Given the description of an element on the screen output the (x, y) to click on. 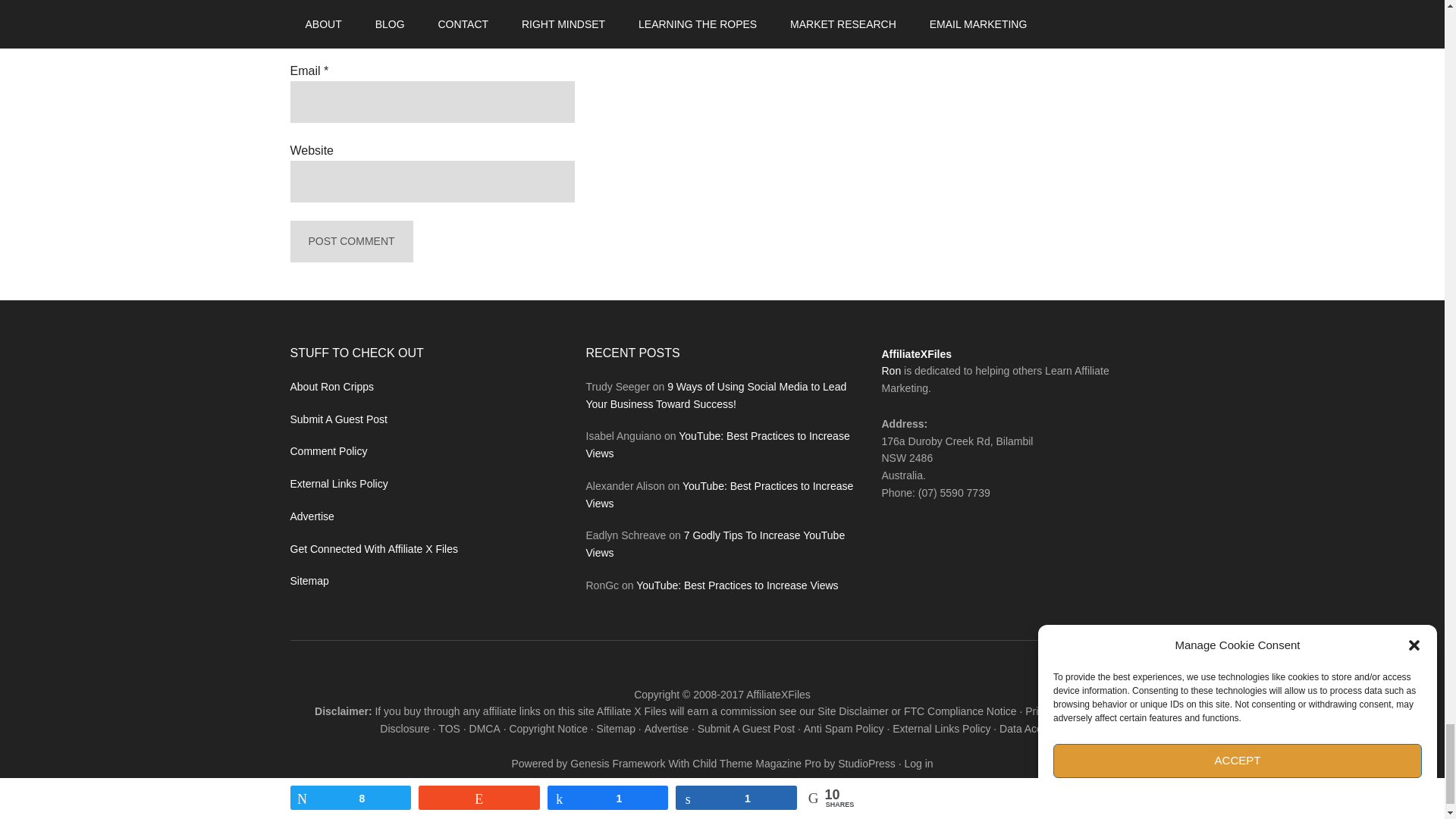
Post Comment (350, 241)
